Given the description of an element on the screen output the (x, y) to click on. 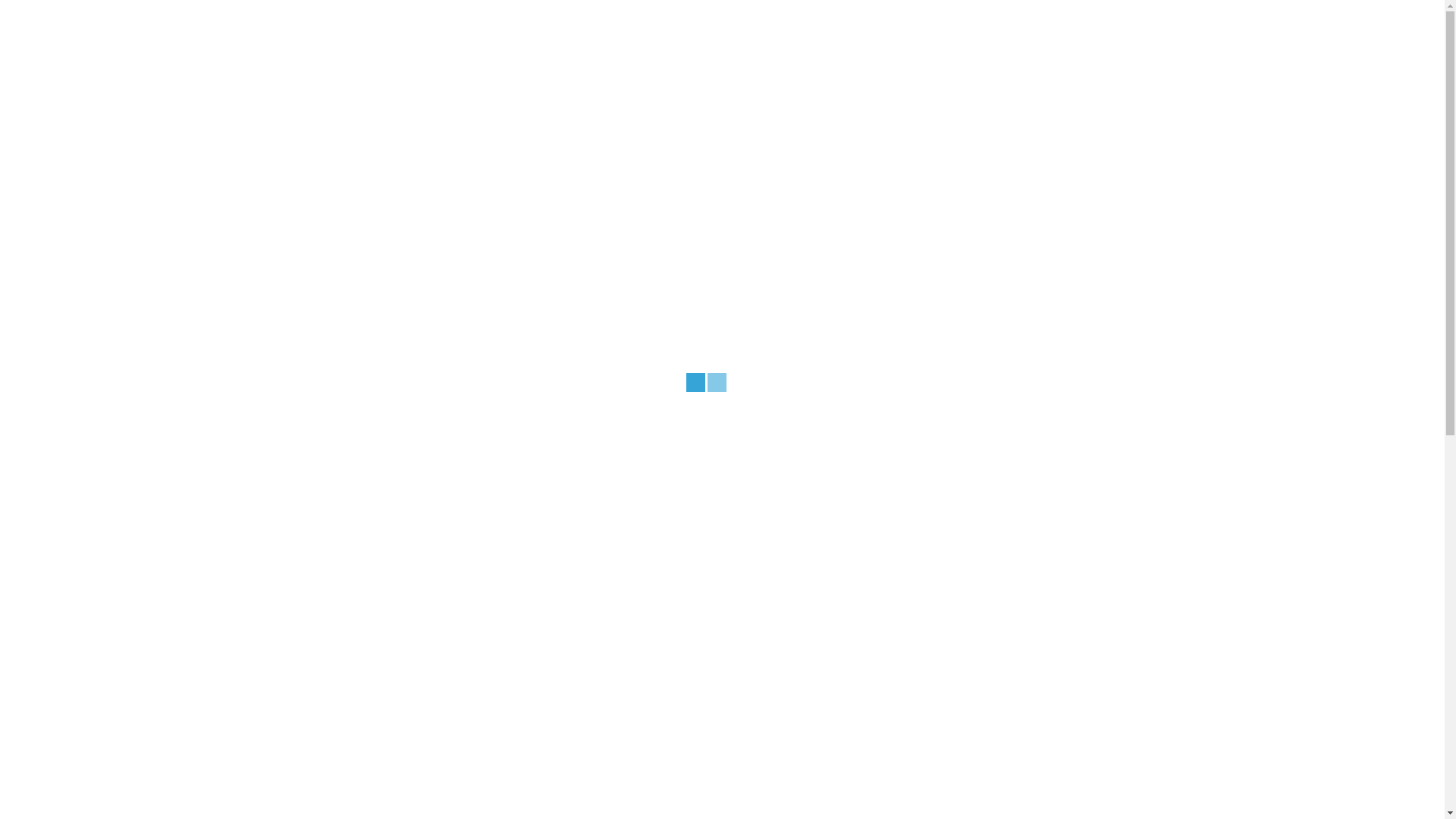
9+ Element type: text (318, 670)
Trefl Element type: text (323, 480)
